Given the description of an element on the screen output the (x, y) to click on. 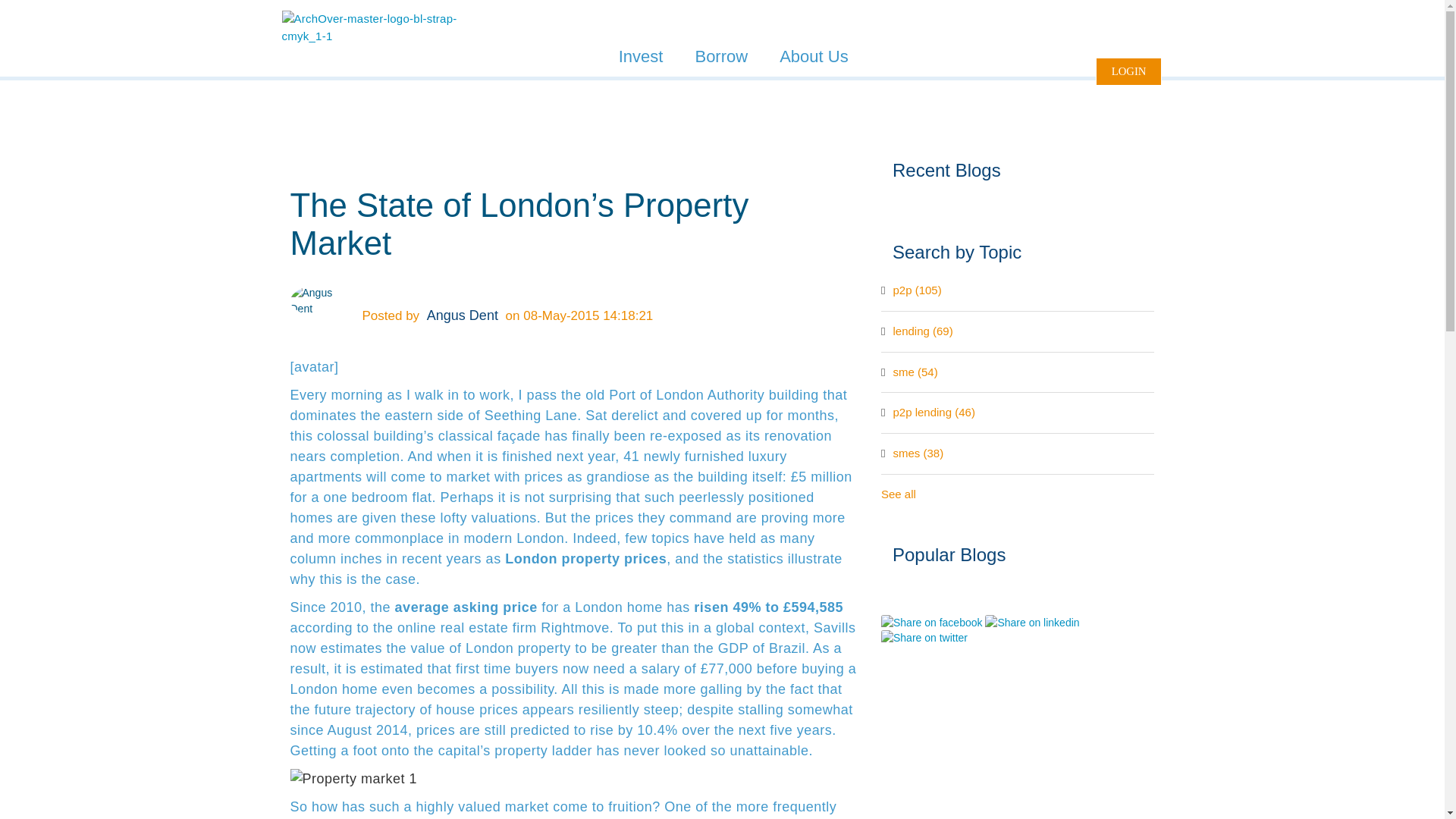
About Us (813, 56)
Borrow (720, 56)
LOGIN (1128, 71)
Invest (641, 56)
Angus Dent (461, 314)
